Given the description of an element on the screen output the (x, y) to click on. 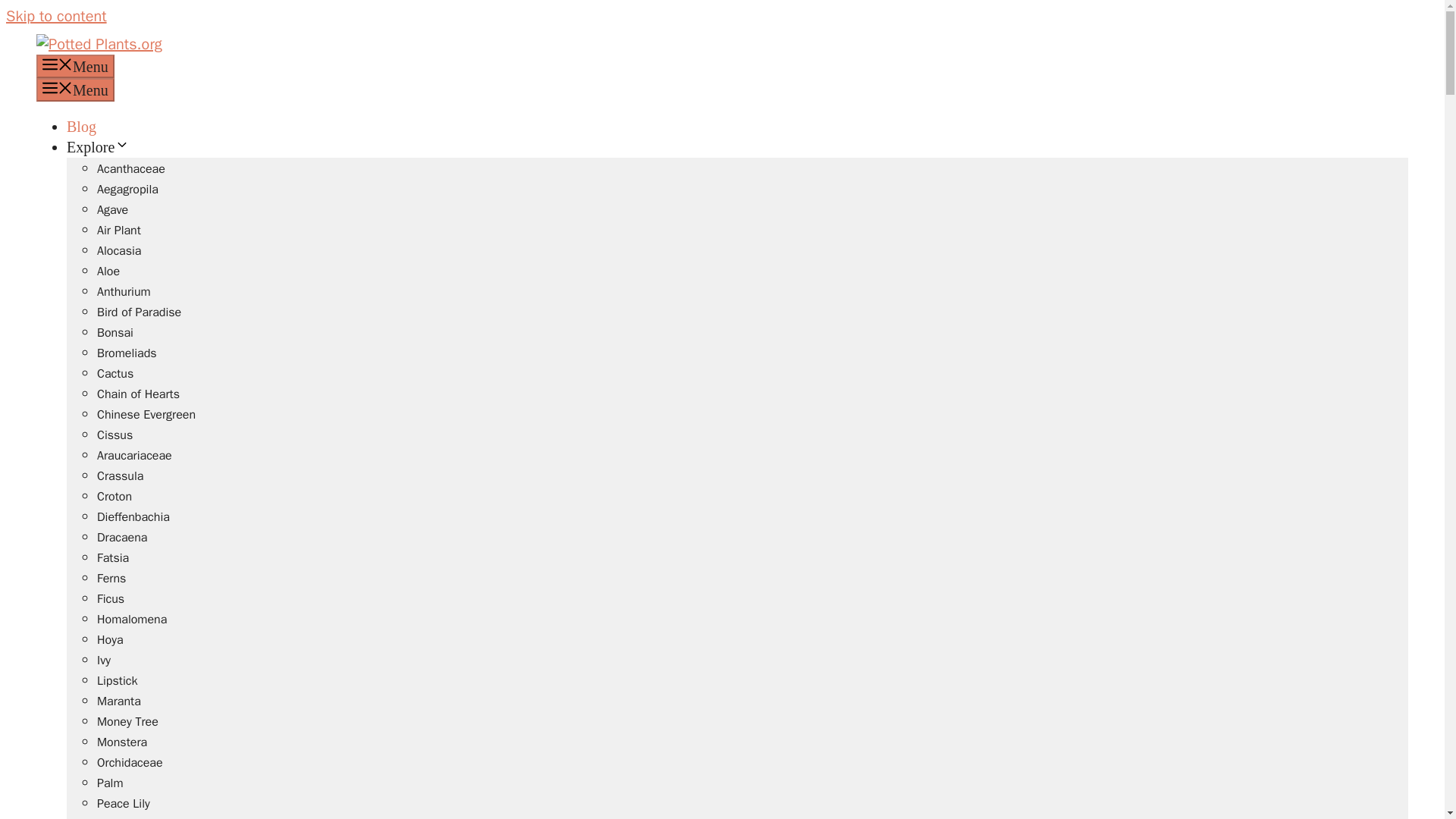
Araucariaceae (134, 455)
Explore (97, 146)
Orchidaceae (130, 762)
Fatsia (113, 557)
Menu (75, 65)
Ivy (103, 660)
Chain of Hearts (138, 394)
Blog (81, 126)
Acanthaceae (131, 168)
Dieffenbachia (133, 516)
Skip to content (55, 15)
Ficus (110, 598)
Bird of Paradise (138, 312)
Peace Lily (123, 803)
Croton (114, 496)
